Given the description of an element on the screen output the (x, y) to click on. 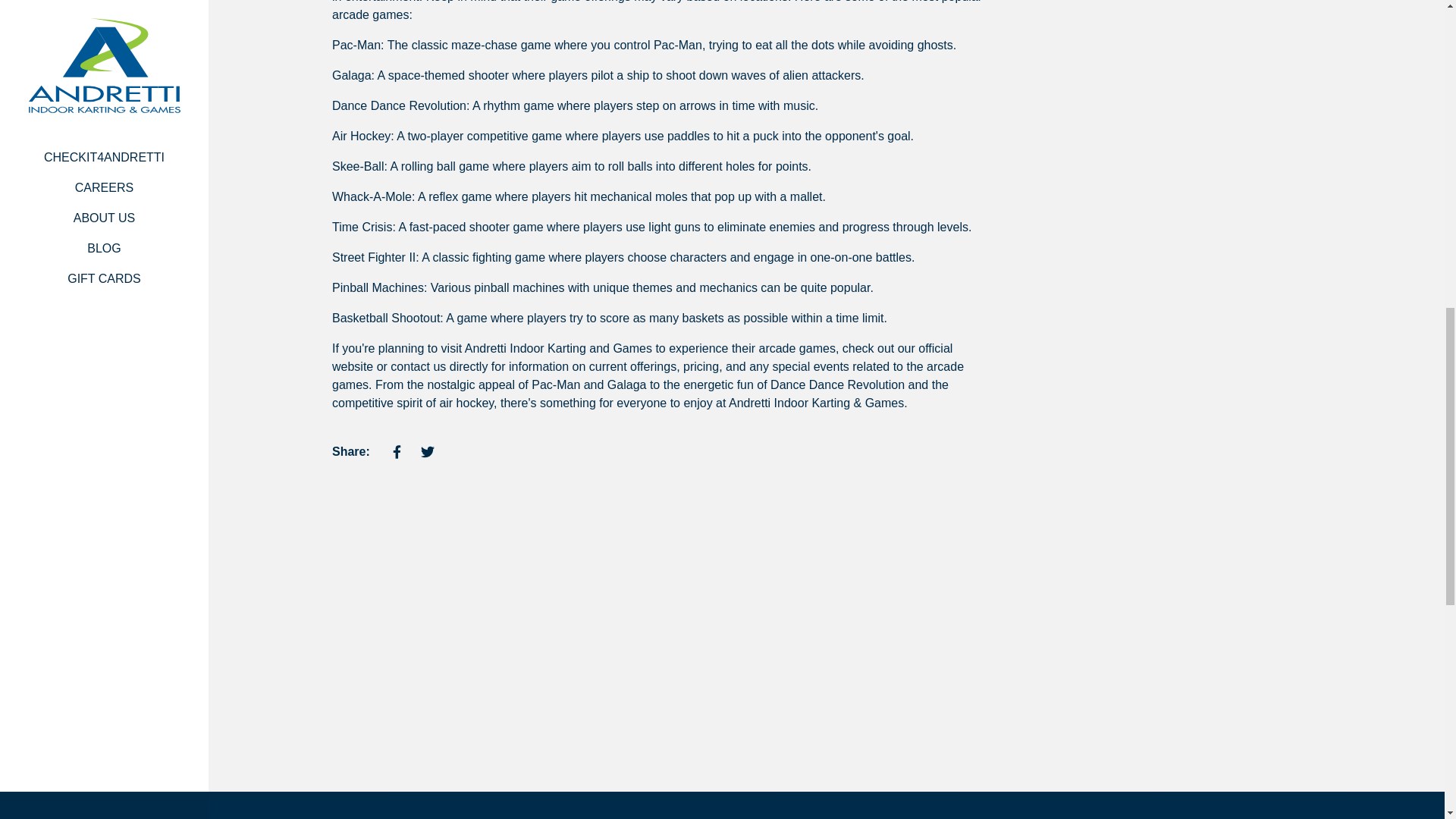
LinkedIn (457, 451)
Twitter (427, 451)
Facebook (396, 451)
Email (488, 451)
